Given the description of an element on the screen output the (x, y) to click on. 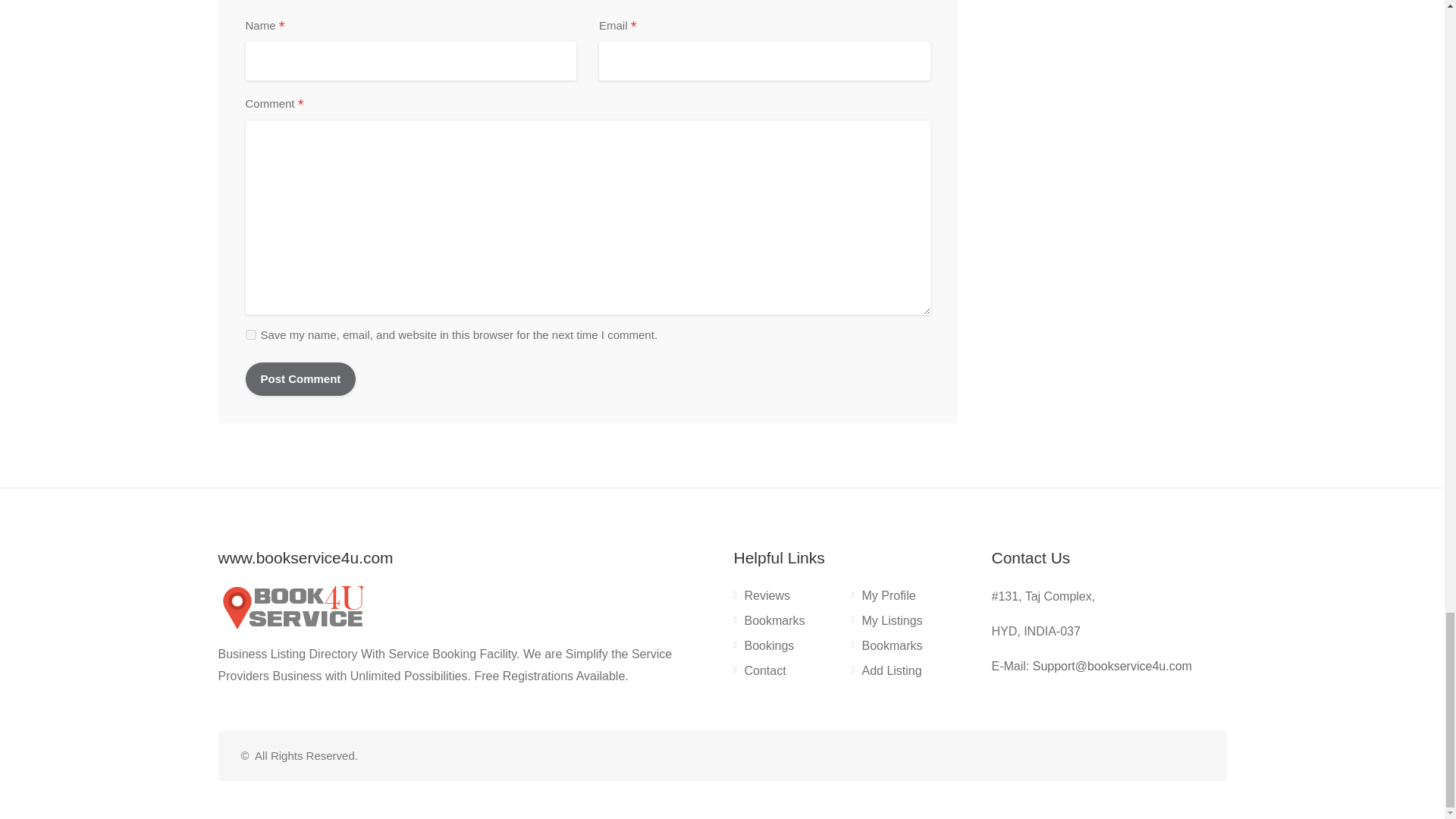
Post Comment (301, 378)
yes (251, 334)
